Given the description of an element on the screen output the (x, y) to click on. 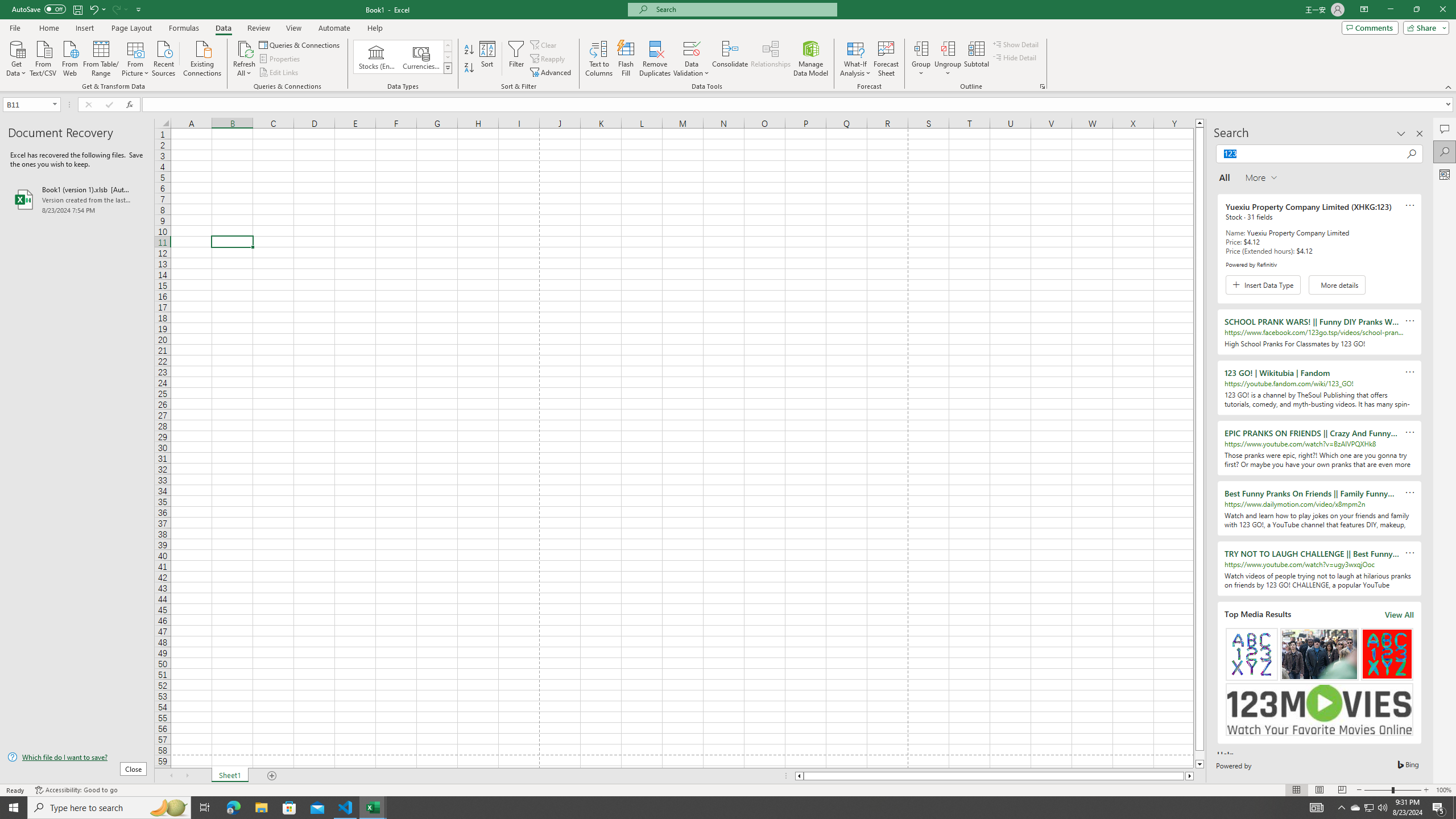
Subtotal (976, 58)
Flash Fill (625, 58)
Consolidate... (729, 58)
AutomationID: ConvertToLinkedEntity (403, 56)
